Given the description of an element on the screen output the (x, y) to click on. 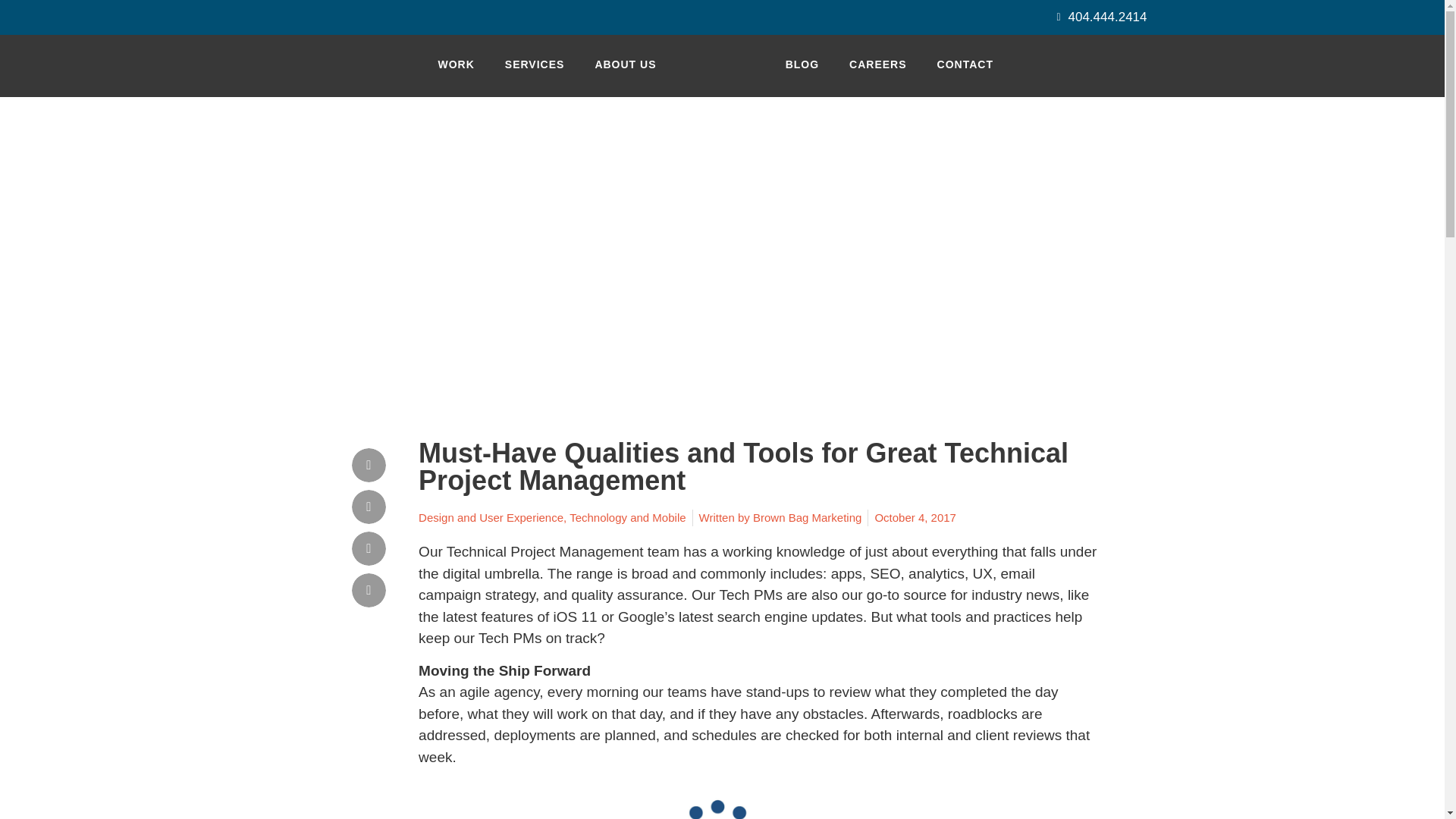
CAREERS (877, 63)
October 4, 2017 (915, 518)
404.444.2414 (1096, 17)
WORK (456, 63)
Written by Brown Bag Marketing (779, 518)
SERVICES (534, 63)
Technology and Mobile (627, 517)
CONTACT (965, 63)
BLOG (802, 63)
ABOUT US (625, 63)
